Given the description of an element on the screen output the (x, y) to click on. 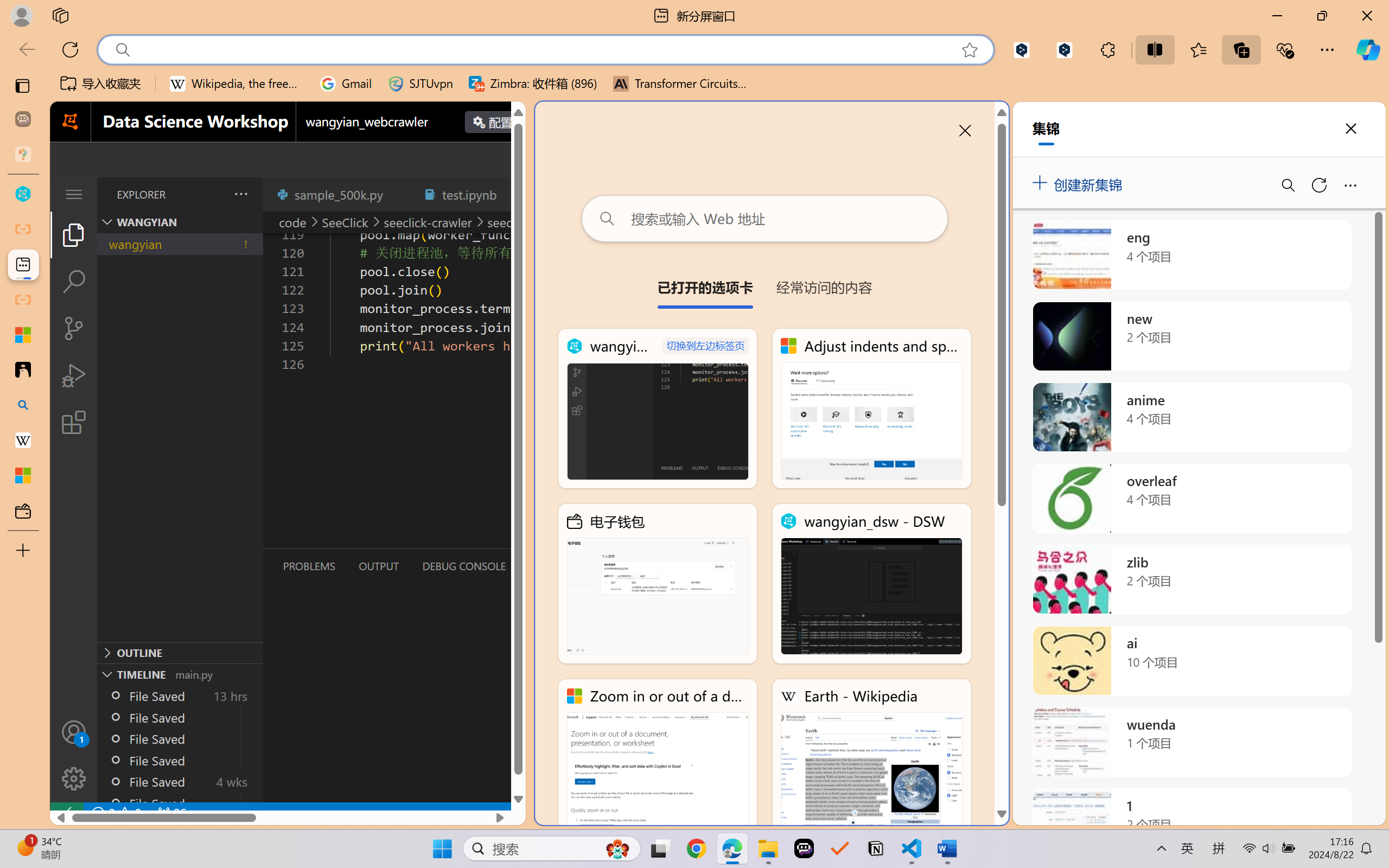
Debug Console (Ctrl+Shift+Y) (463, 565)
Output (Ctrl+Shift+U) (377, 565)
Tab actions (512, 194)
Explorer (Ctrl+Shift+E) (73, 234)
